Given the description of an element on the screen output the (x, y) to click on. 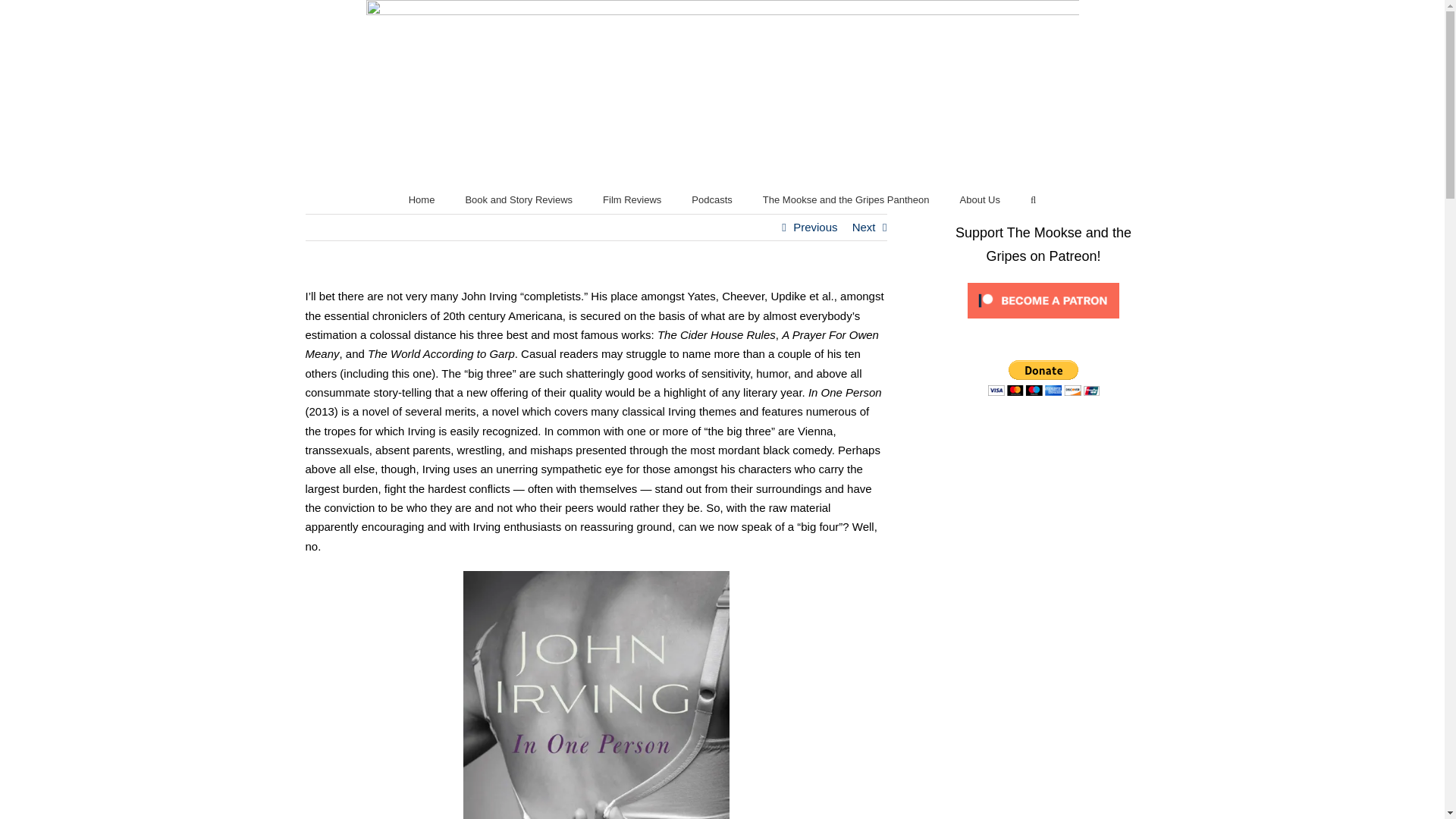
Podcasts (711, 198)
Film Reviews (631, 198)
Previous (815, 227)
The Mookse and the Gripes Pantheon (846, 198)
Book and Story Reviews (518, 198)
About Us (979, 198)
Next (863, 227)
